Given the description of an element on the screen output the (x, y) to click on. 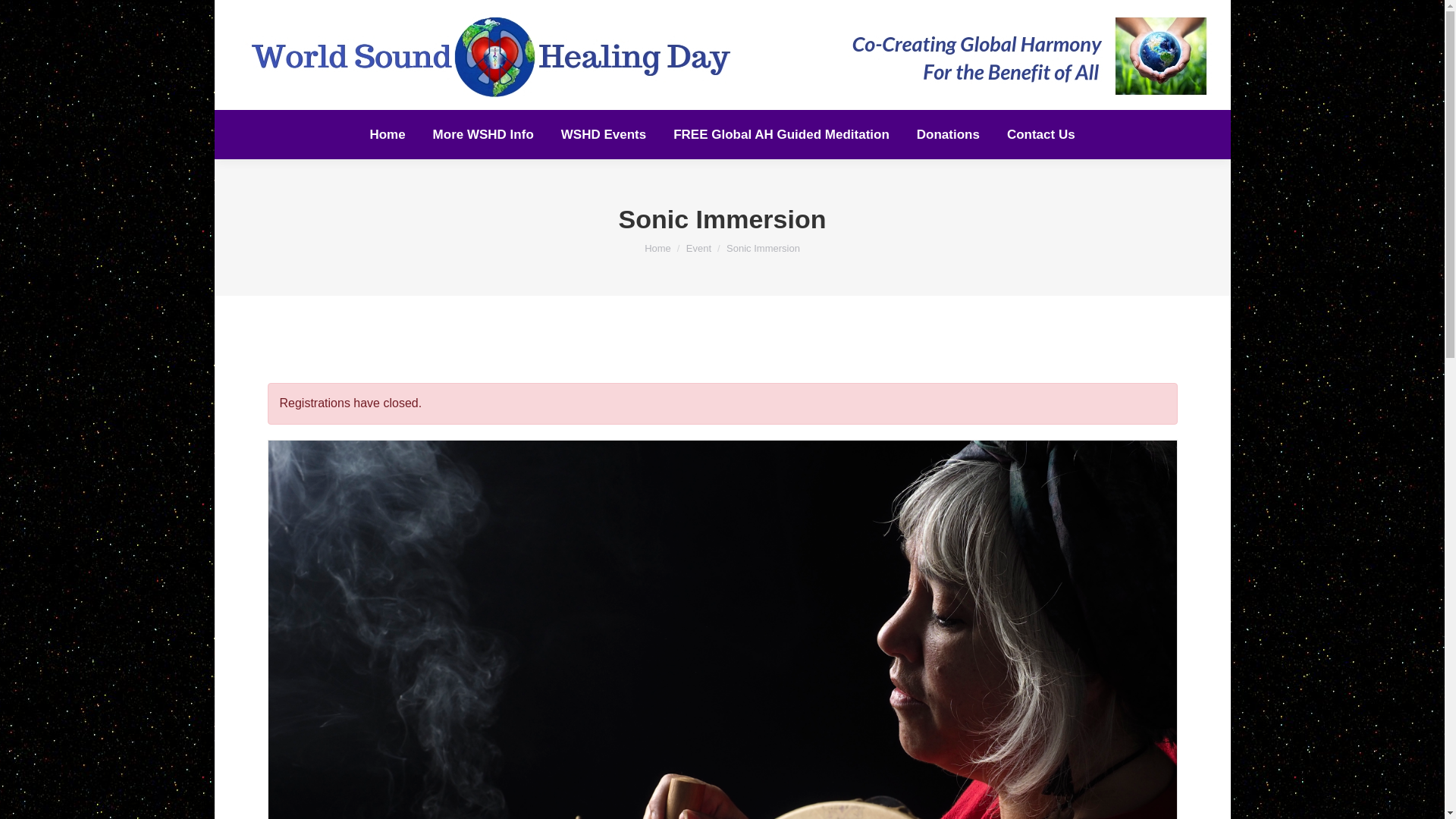
More WSHD Info (483, 134)
WSHD Events (603, 134)
Home (658, 247)
Contact Us (1041, 134)
Home (658, 247)
FREE Global AH Guided Meditation (780, 134)
Donations (948, 134)
Home (386, 134)
